Given the description of an element on the screen output the (x, y) to click on. 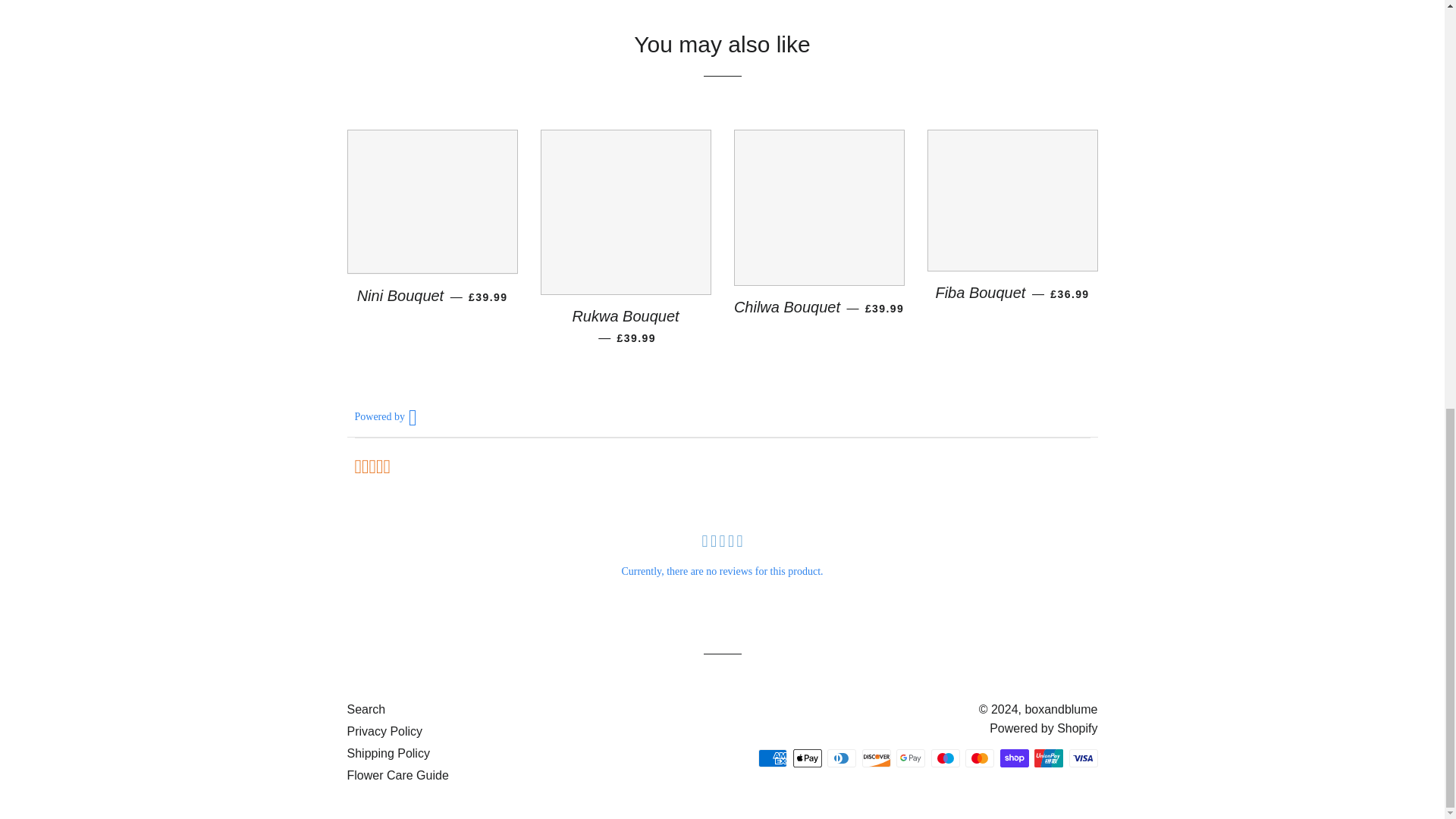
Discover (875, 758)
Google Pay (910, 758)
American Express (772, 758)
Shipping Policy (388, 753)
boxandblume (1061, 708)
Diners Club (841, 758)
Shop Pay (1012, 758)
Mastercard (979, 758)
Flower Care Guide (397, 775)
Powered by Shopify (1043, 727)
Union Pay (1047, 758)
Maestro (945, 758)
Visa (1082, 758)
Privacy Policy (385, 730)
Apple Pay (807, 758)
